Given the description of an element on the screen output the (x, y) to click on. 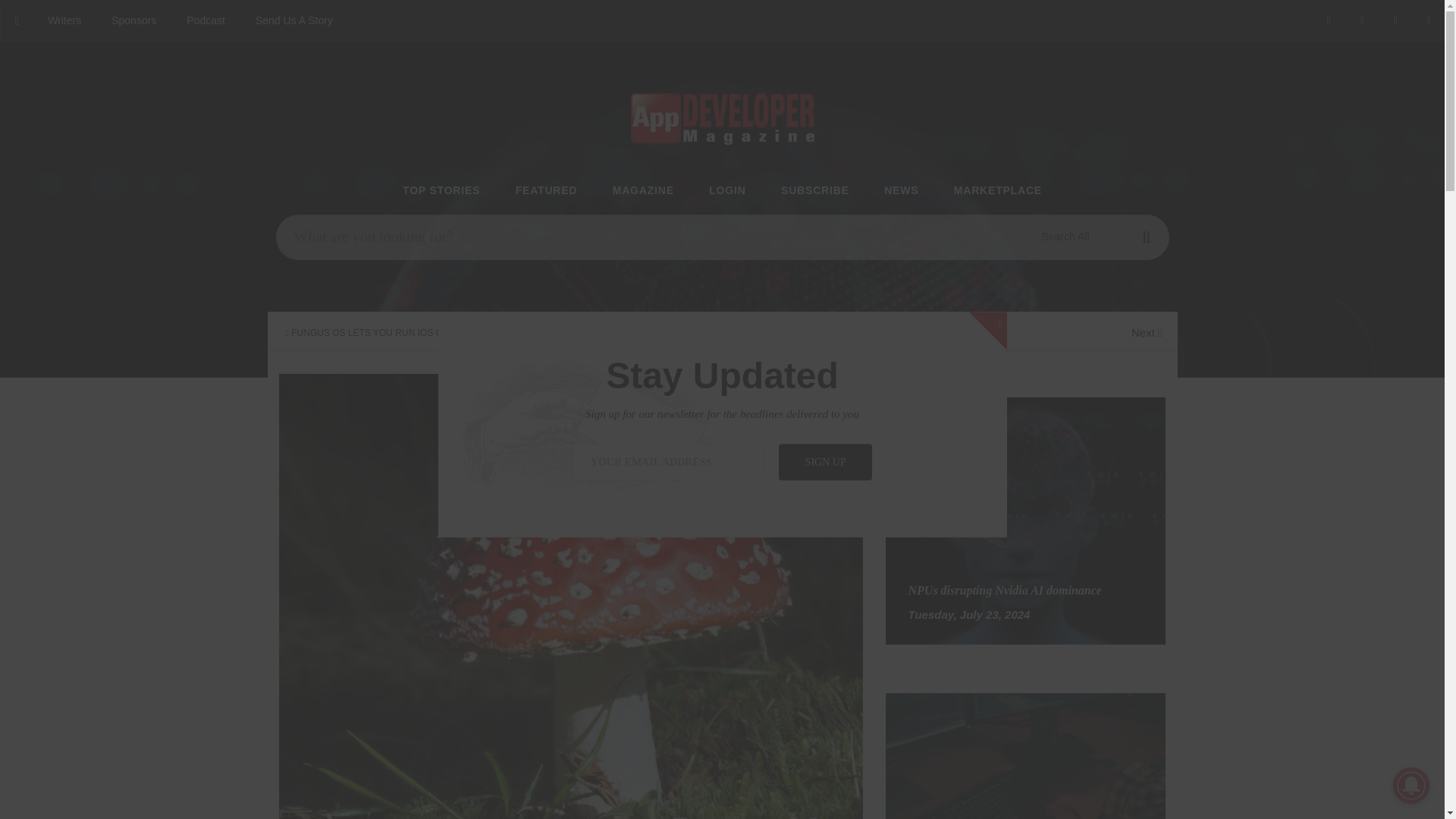
sign up (825, 461)
Our Facebook (1326, 20)
SUBSCRIBE (814, 190)
FEATURED (546, 190)
Sponsors (133, 20)
Writers (64, 20)
TOP STORIES (441, 190)
MAGAZINE (643, 190)
Our Twitter (1360, 20)
Our Writers (64, 20)
NEWS (900, 190)
App Developer Magazine (205, 20)
Our RSS (1427, 20)
LOGIN (727, 190)
